Given the description of an element on the screen output the (x, y) to click on. 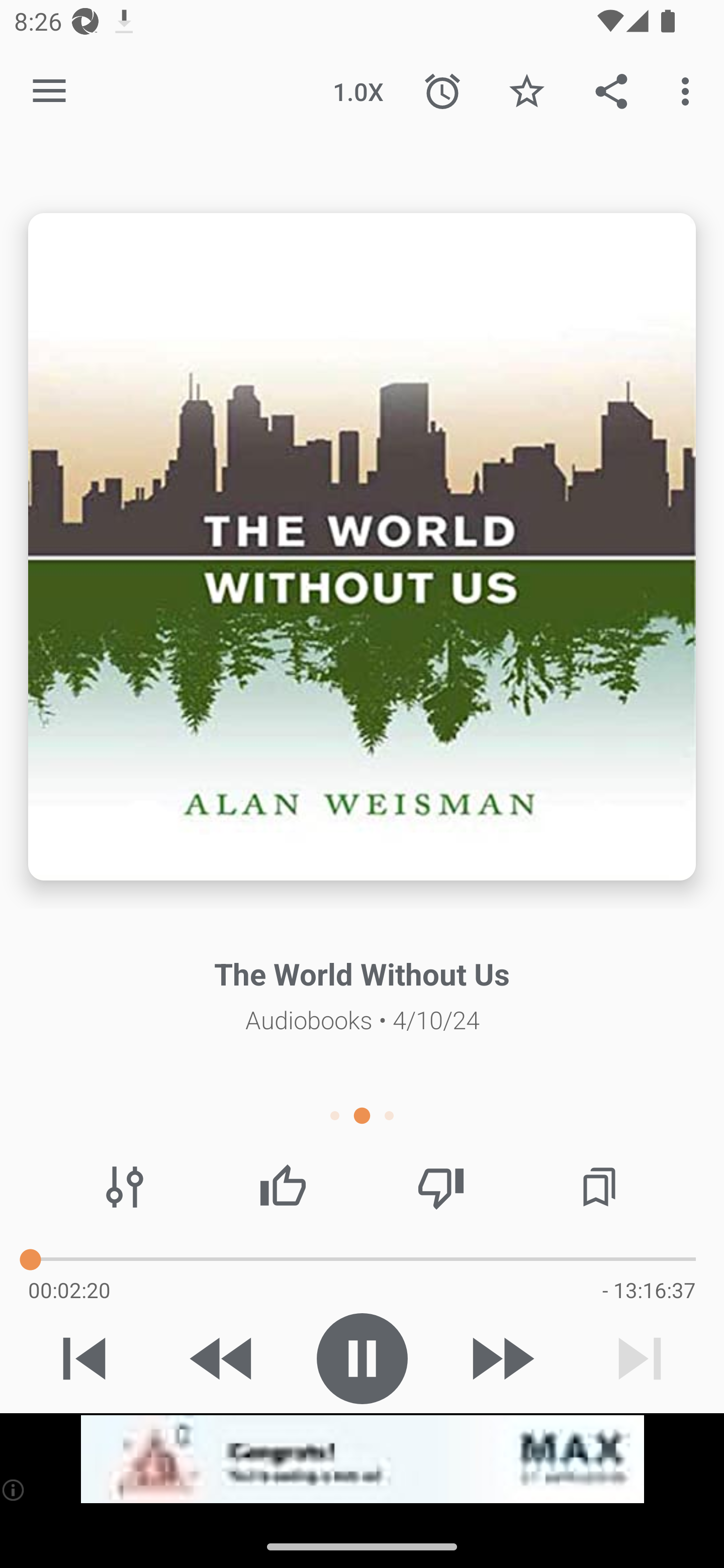
Open navigation sidebar (49, 91)
1.0X (357, 90)
Sleep Timer (442, 90)
Favorite (526, 90)
Share (611, 90)
More options (688, 90)
Episode description (361, 547)
Audio effects (124, 1186)
Thumbs up (283, 1186)
Thumbs down (440, 1186)
Chapters / Bookmarks (598, 1186)
- 13:16:37 (648, 1289)
Previous track (84, 1358)
Skip 15s backward (222, 1358)
Play / Pause (362, 1358)
Skip 30s forward (500, 1358)
Next track (639, 1358)
app-monetization (362, 1459)
(i) (14, 1489)
